Given the description of an element on the screen output the (x, y) to click on. 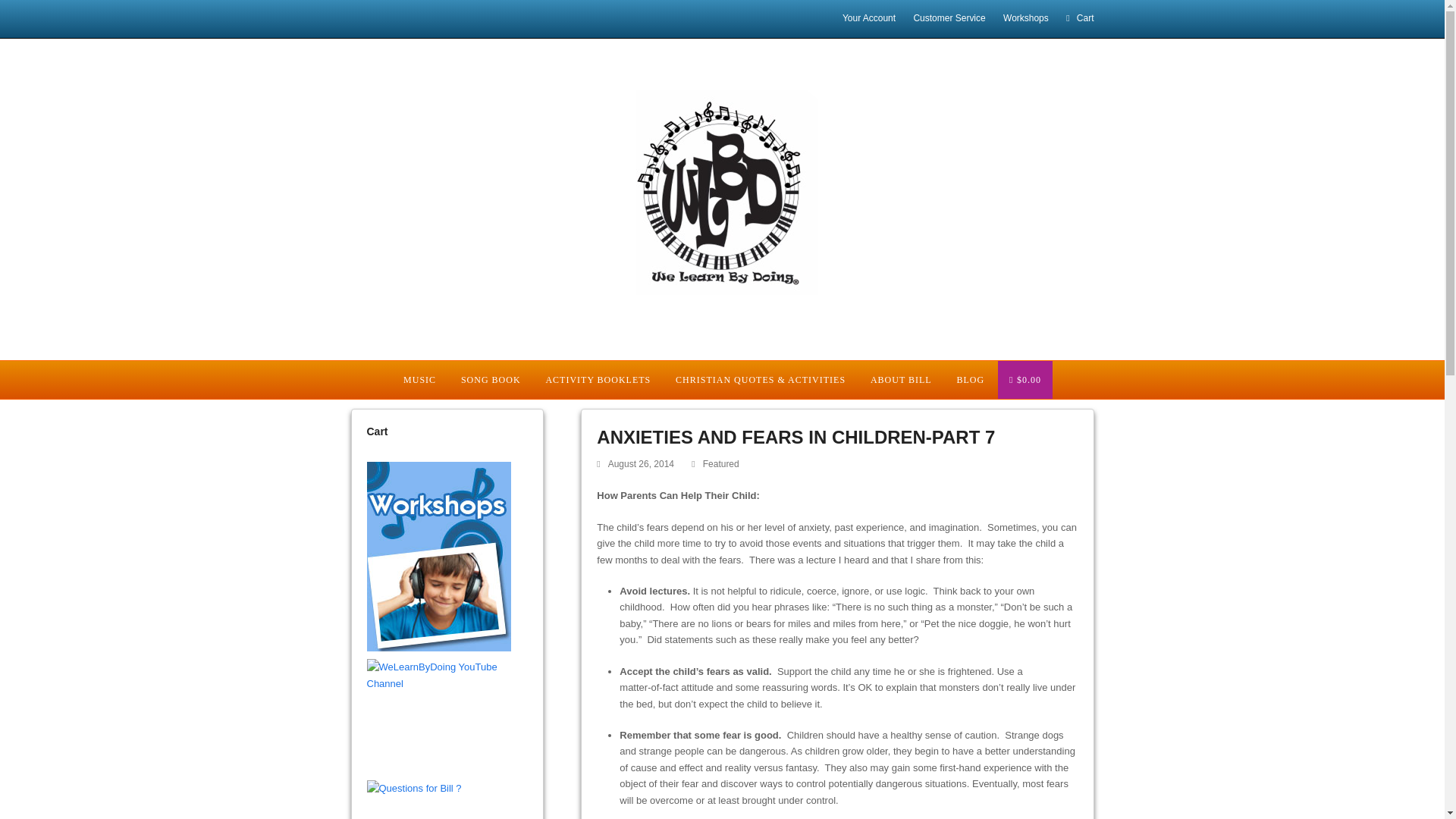
SONG BOOK (490, 379)
ACTIVITY BOOKLETS (598, 379)
MUSIC (418, 379)
Your Account (869, 18)
Workshops (1025, 18)
BLOG (969, 379)
Cart (1079, 18)
Featured (721, 463)
Customer Service (948, 18)
ABOUT BILL (900, 379)
